Given the description of an element on the screen output the (x, y) to click on. 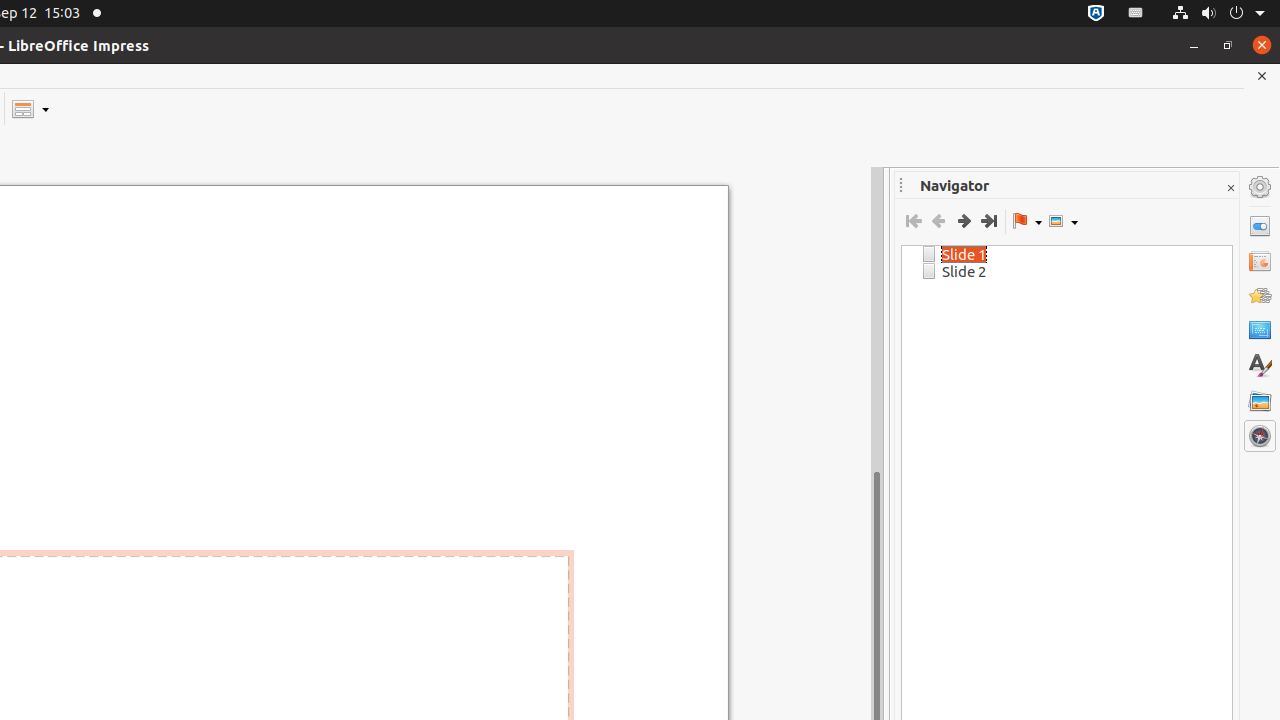
Styles Element type: radio-button (1260, 366)
Show Shapes Element type: push-button (1063, 221)
:1.21/StatusNotifierItem Element type: menu (1136, 13)
Drag Mode Element type: push-button (1027, 221)
Animation Element type: radio-button (1260, 296)
